Given the description of an element on the screen output the (x, y) to click on. 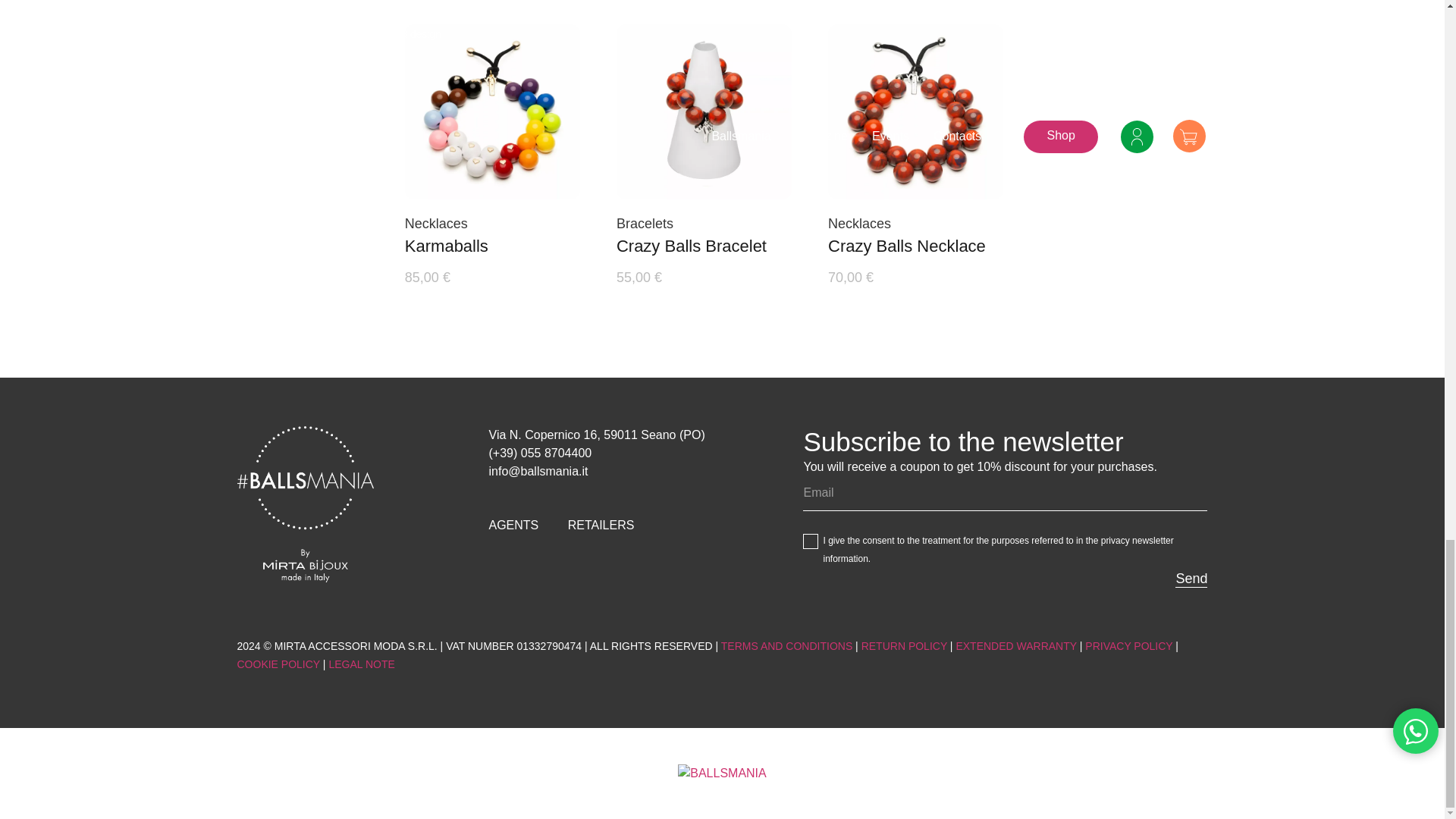
Karmaballs (445, 245)
1 (810, 540)
Send (1190, 579)
